Given the description of an element on the screen output the (x, y) to click on. 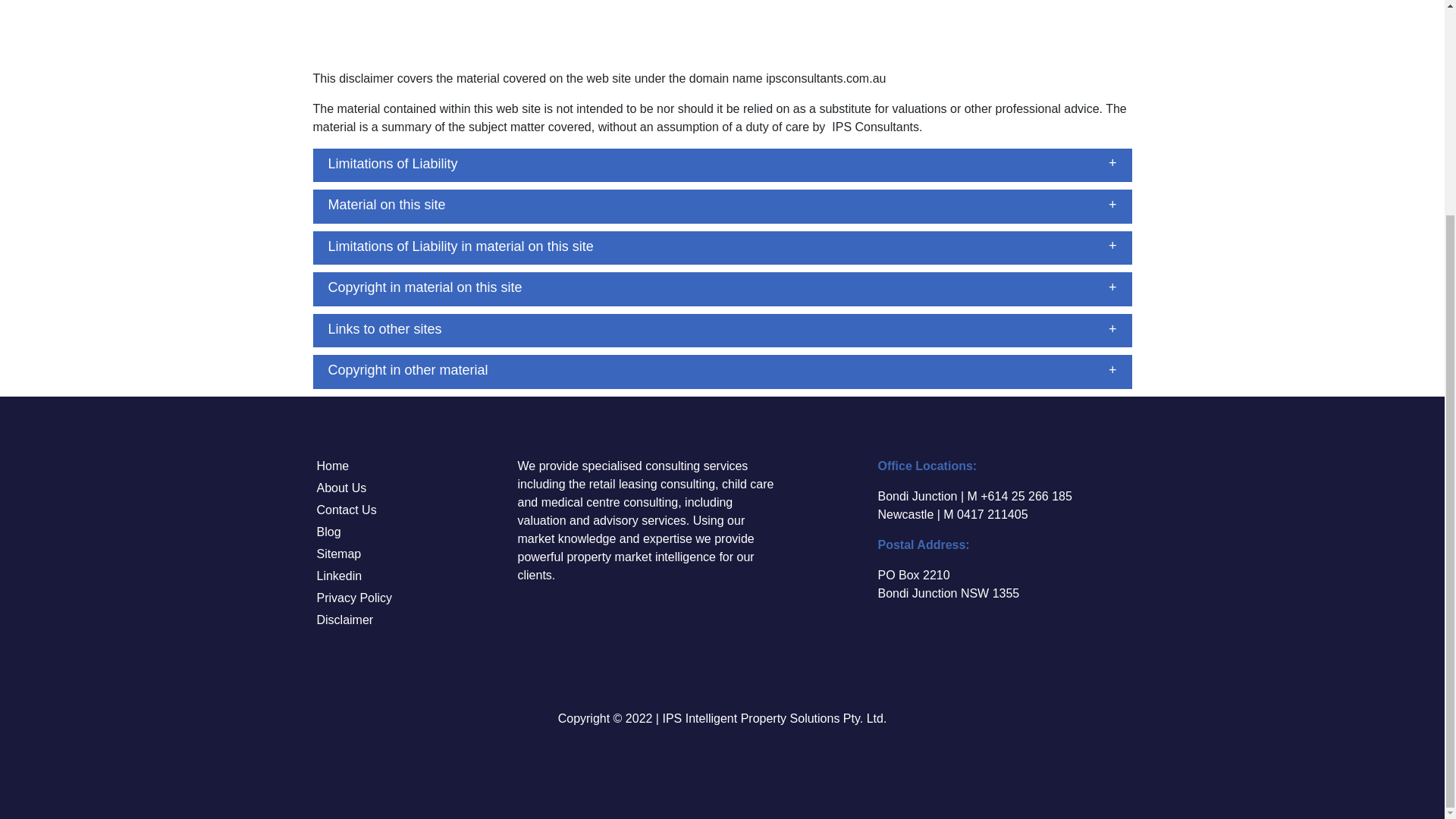
Home (333, 465)
Disclaimer (344, 619)
Privacy Policy (354, 597)
Sitemap (339, 553)
Contact Us (346, 509)
About Us (341, 487)
Blog (328, 531)
Linkedin (339, 575)
